Given the description of an element on the screen output the (x, y) to click on. 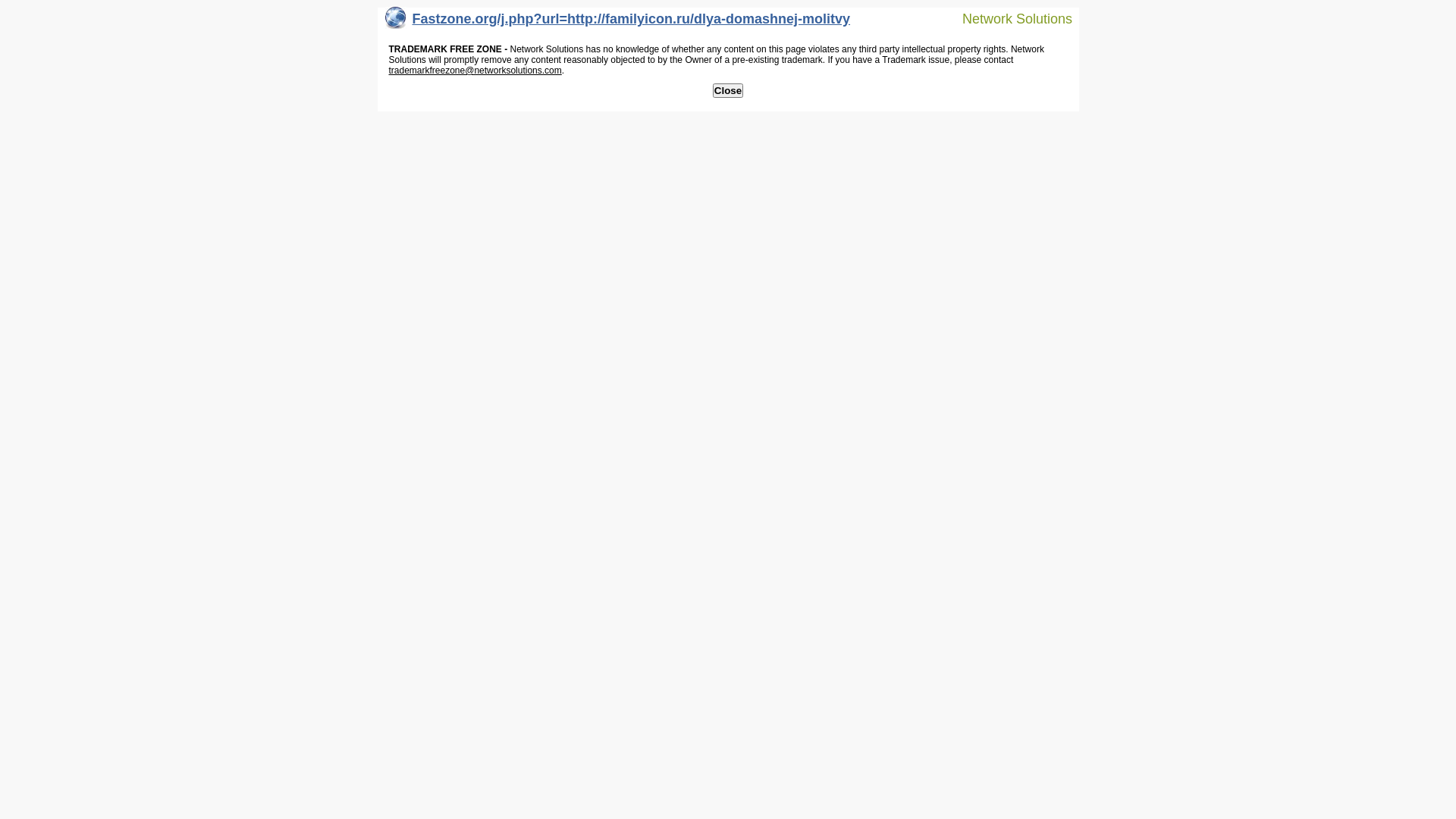
trademarkfreezone@networksolutions.com Element type: text (474, 70)
Close Element type: text (727, 90)
Network Solutions Element type: text (1007, 17)
